Given the description of an element on the screen output the (x, y) to click on. 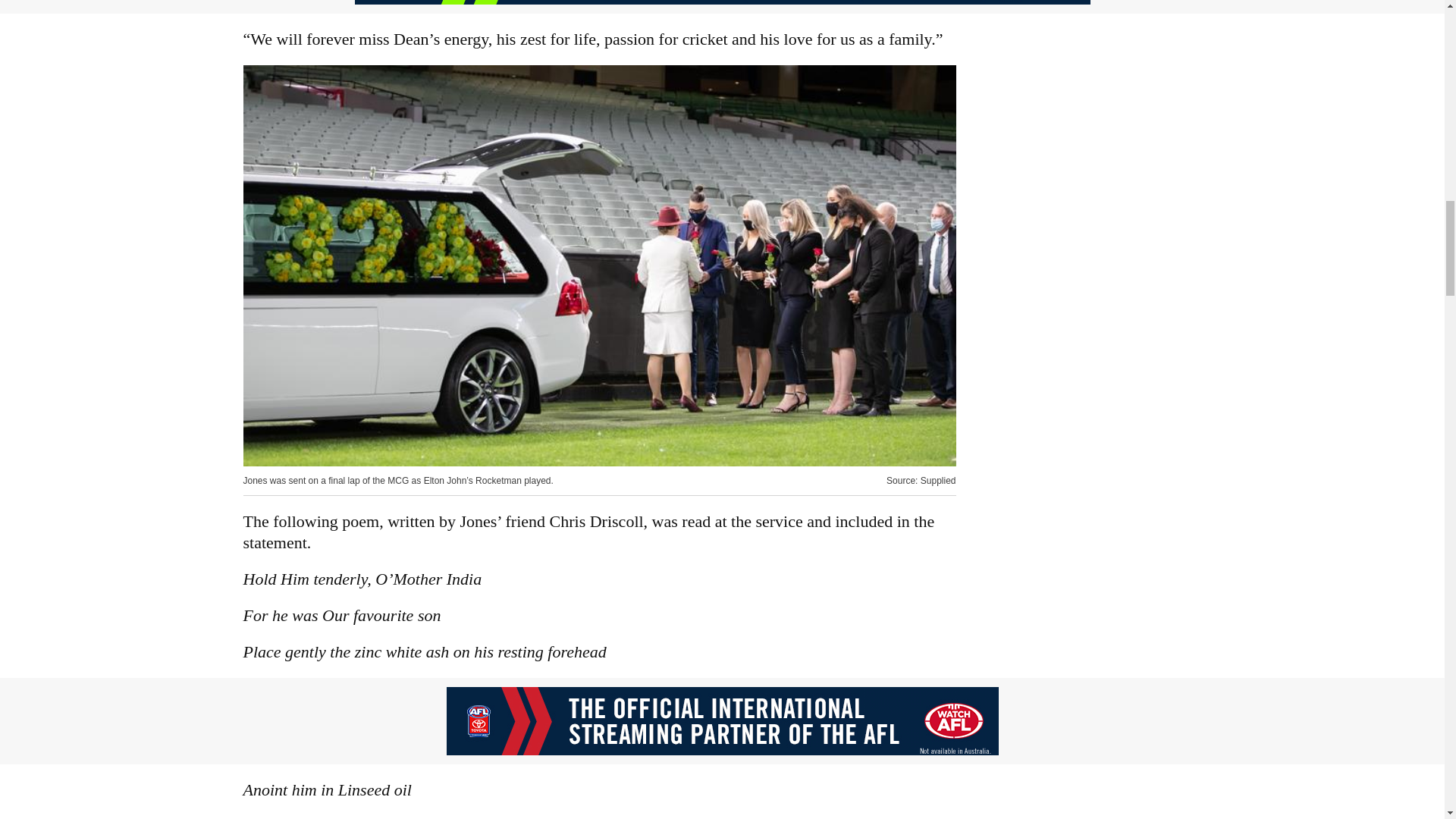
3rd party ad content (721, 721)
